Given the description of an element on the screen output the (x, y) to click on. 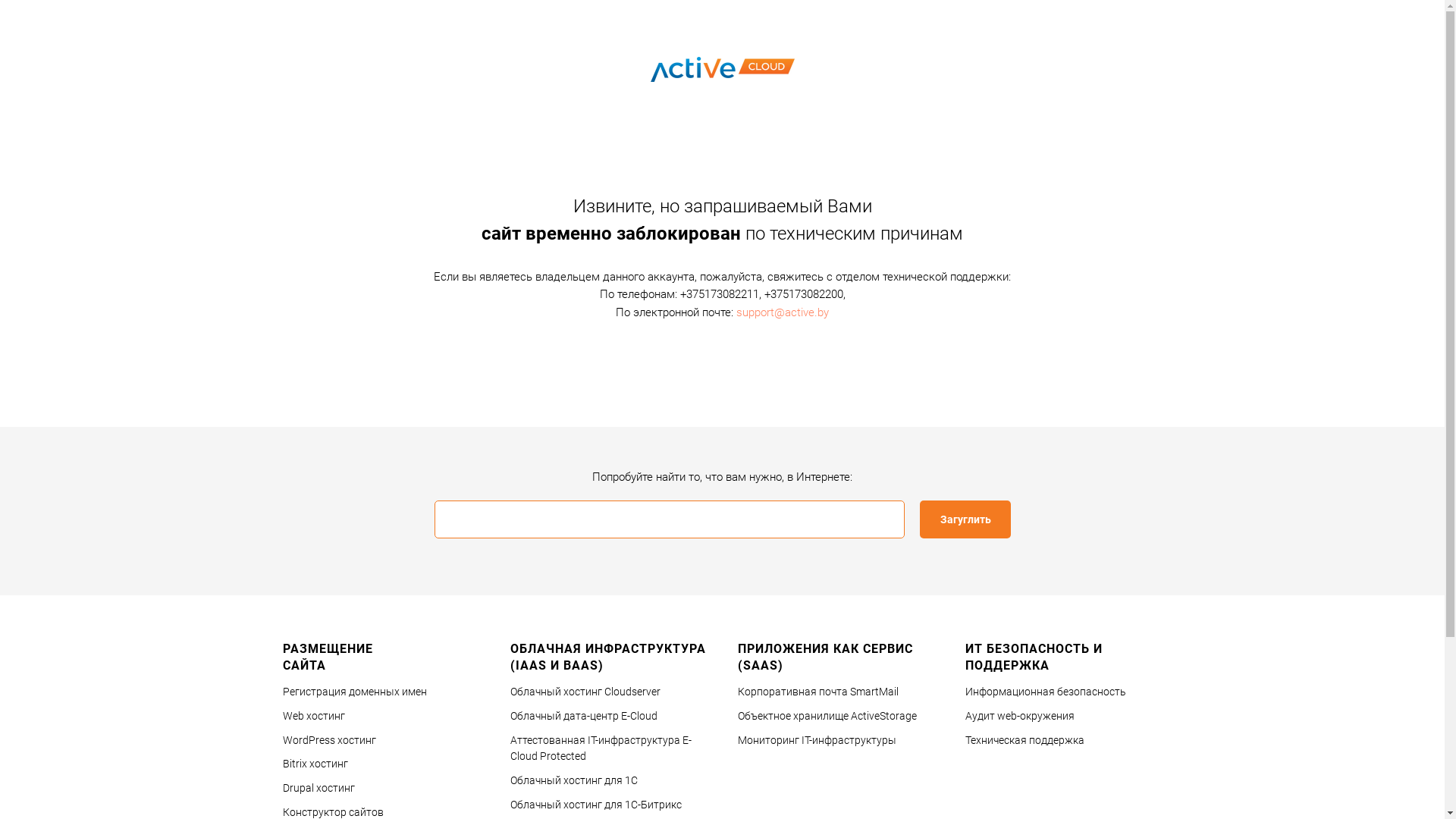
+375173082200 Element type: text (803, 294)
+375173082211 Element type: text (718, 294)
support@active.by Element type: text (782, 311)
